Given the description of an element on the screen output the (x, y) to click on. 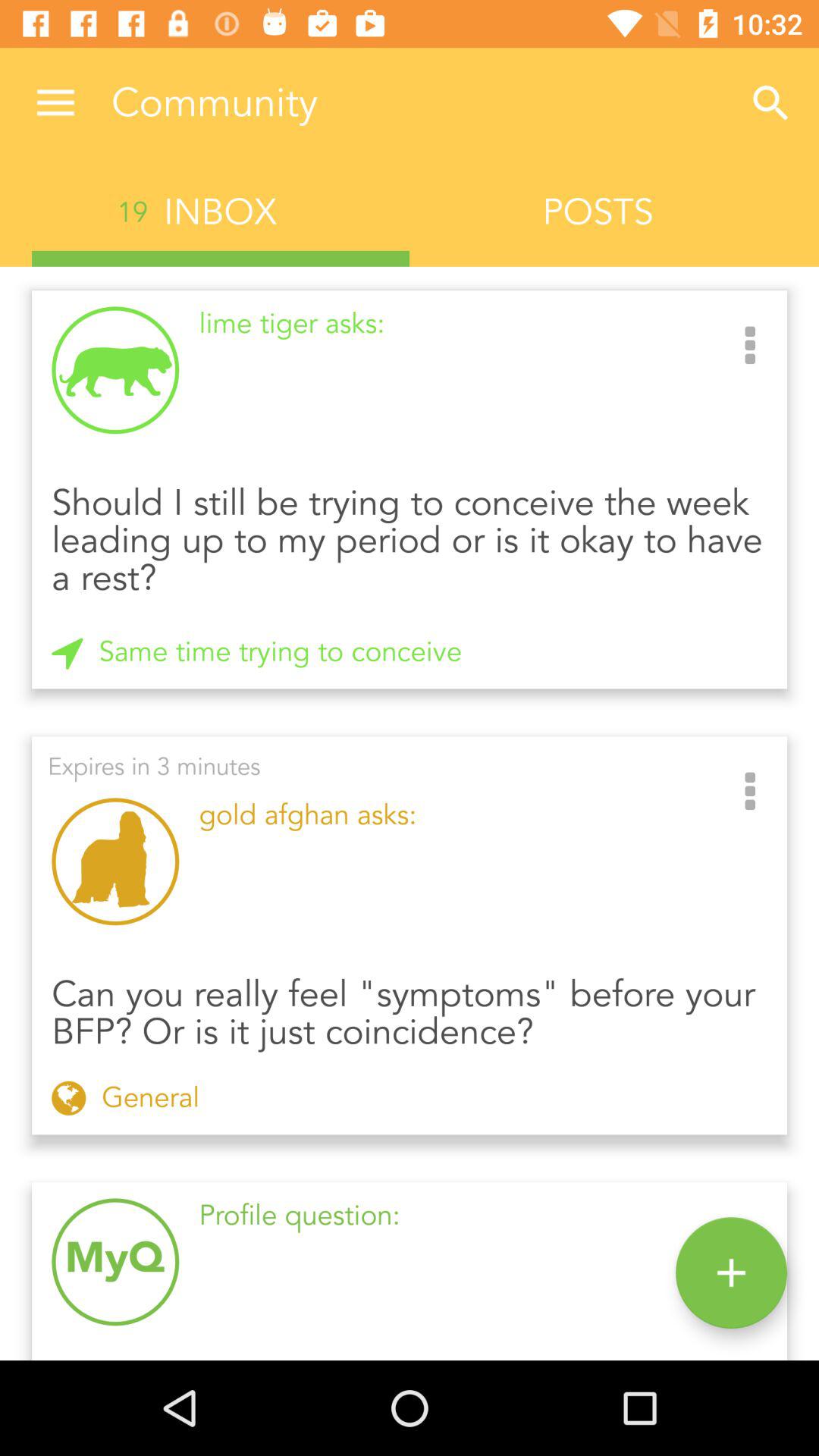
add profile (731, 1272)
